Given the description of an element on the screen output the (x, y) to click on. 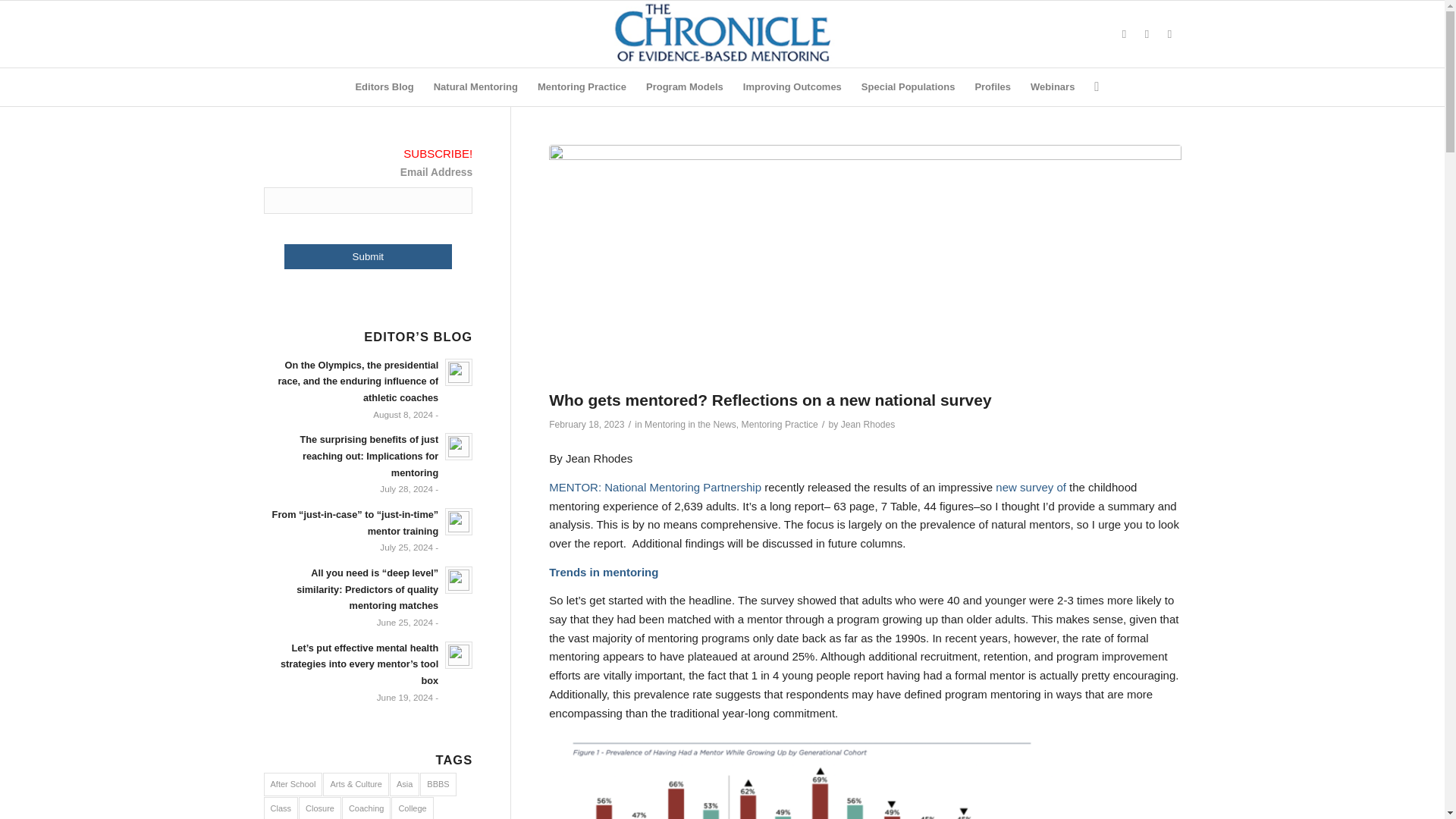
Editors Blog (384, 86)
Submit (367, 256)
Program Models (684, 86)
Special Populations (908, 86)
Improving Outcomes (792, 86)
Profiles (991, 86)
X (1124, 33)
Webinars (1052, 86)
Instagram (1146, 33)
